Given the description of an element on the screen output the (x, y) to click on. 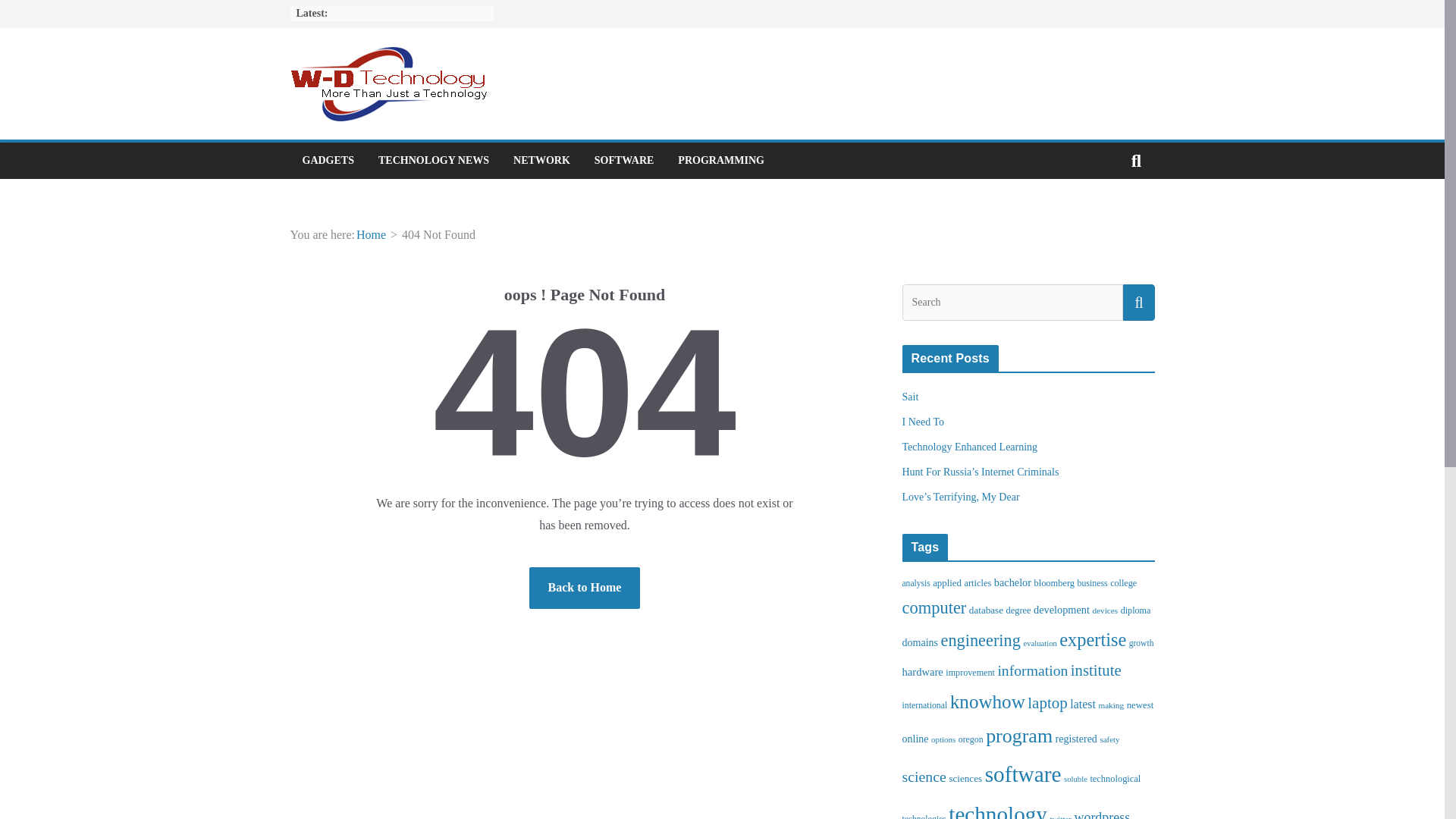
SOFTWARE (623, 160)
GADGETS (327, 160)
engineering (980, 640)
development (1061, 609)
bloomberg (1054, 583)
evaluation (1040, 643)
database (986, 609)
articles (977, 583)
devices (1105, 610)
domains (920, 642)
computer (934, 607)
degree (1018, 610)
Technology Enhanced Learning (970, 446)
PROGRAMMING (721, 160)
Home (370, 234)
